Given the description of an element on the screen output the (x, y) to click on. 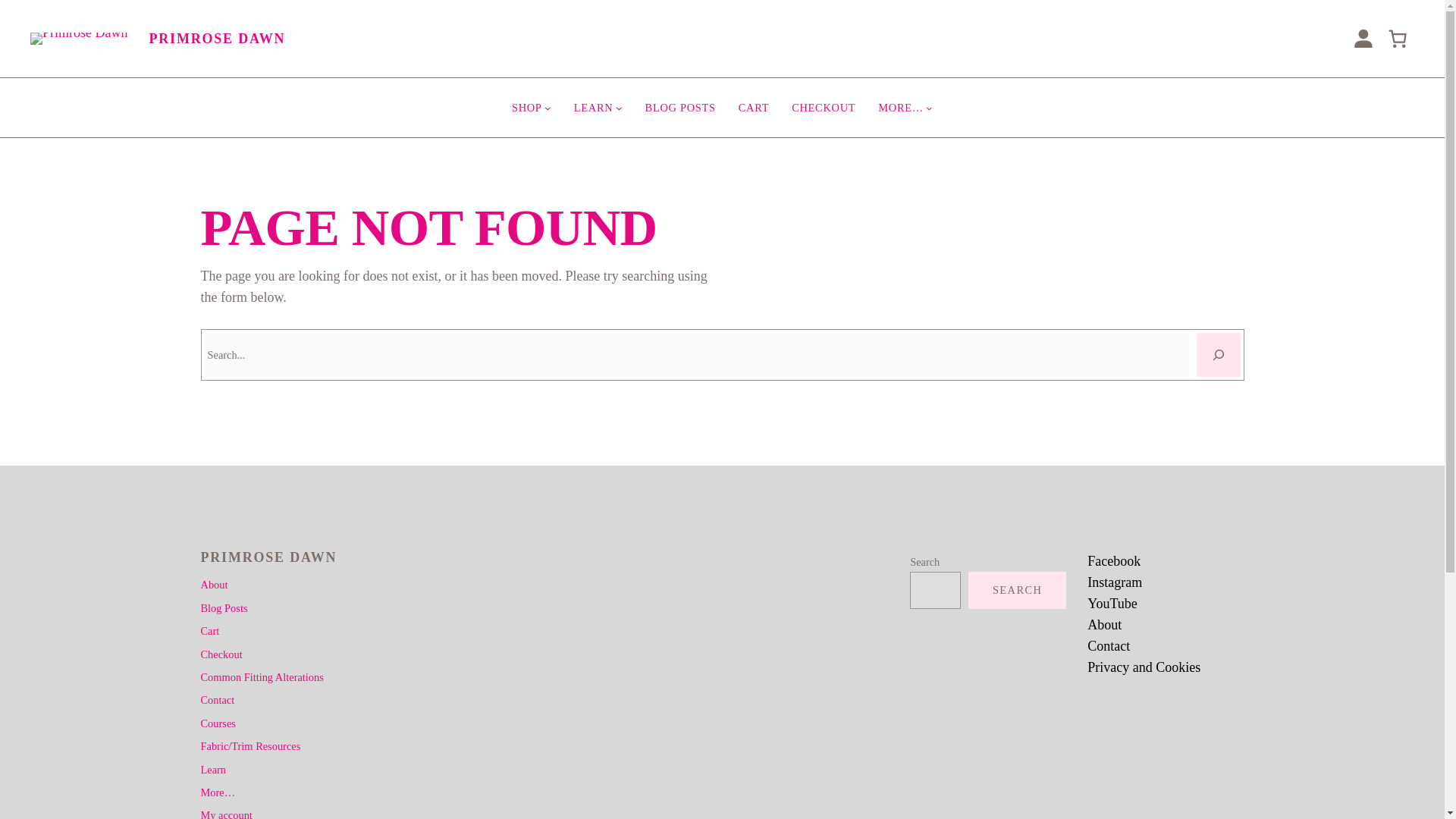
SHOP (526, 107)
CHECKOUT (824, 107)
BLOG POSTS (680, 107)
LEARN (592, 107)
CART (753, 107)
PRIMROSE DAWN (216, 38)
